Given the description of an element on the screen output the (x, y) to click on. 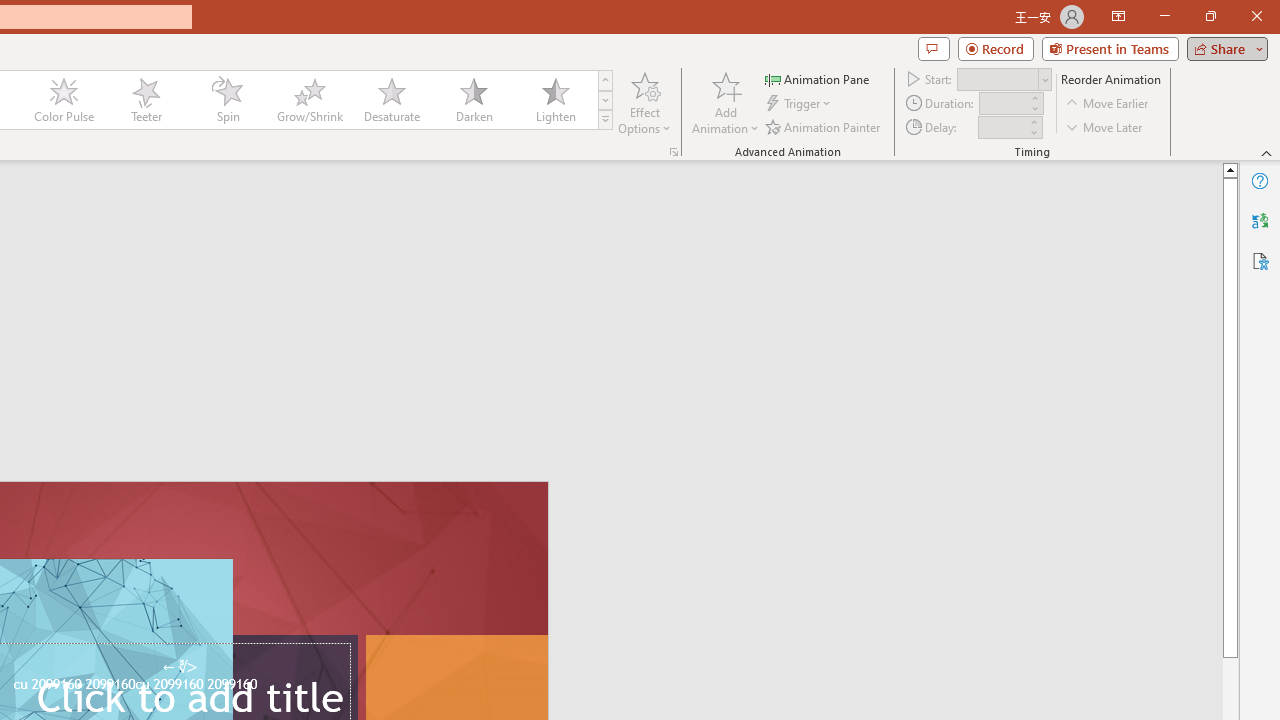
Desaturate (391, 100)
Animation Delay (1002, 127)
More (1033, 121)
Effect Options (644, 102)
TextBox 7 (179, 667)
Spin (227, 100)
Animation Pane (818, 78)
